Given the description of an element on the screen output the (x, y) to click on. 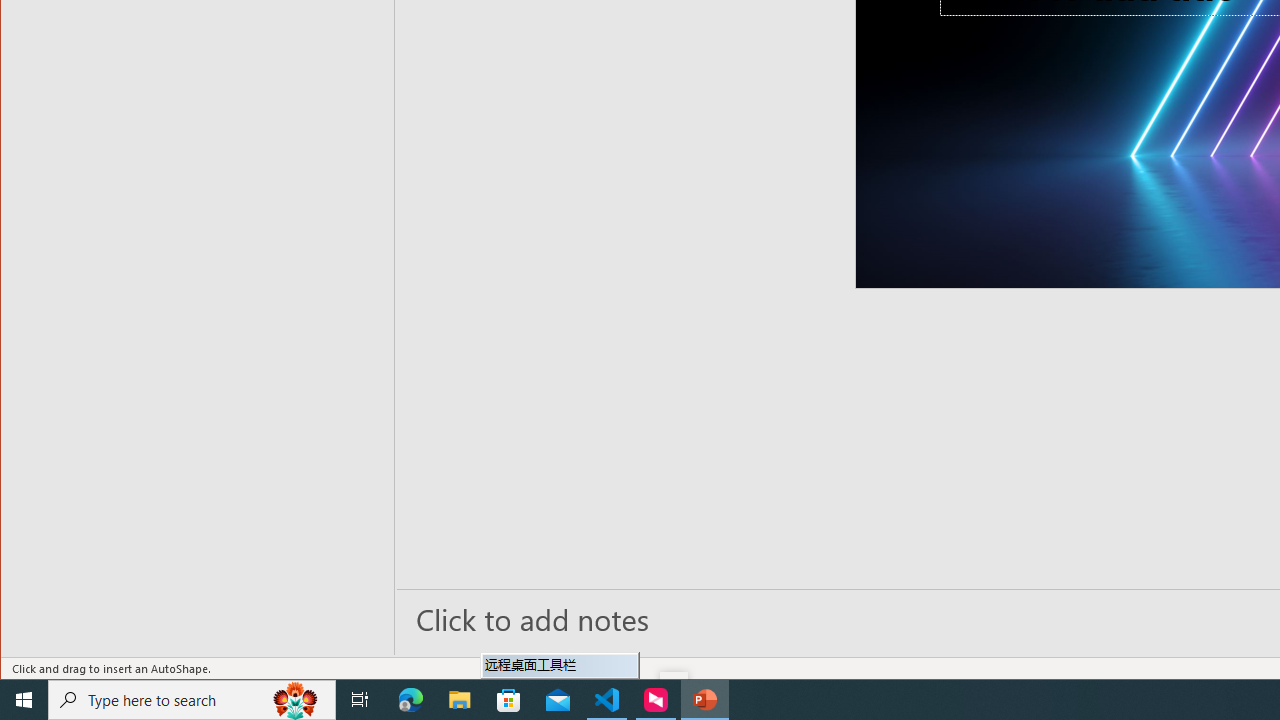
Microsoft Edge (411, 699)
